Given the description of an element on the screen output the (x, y) to click on. 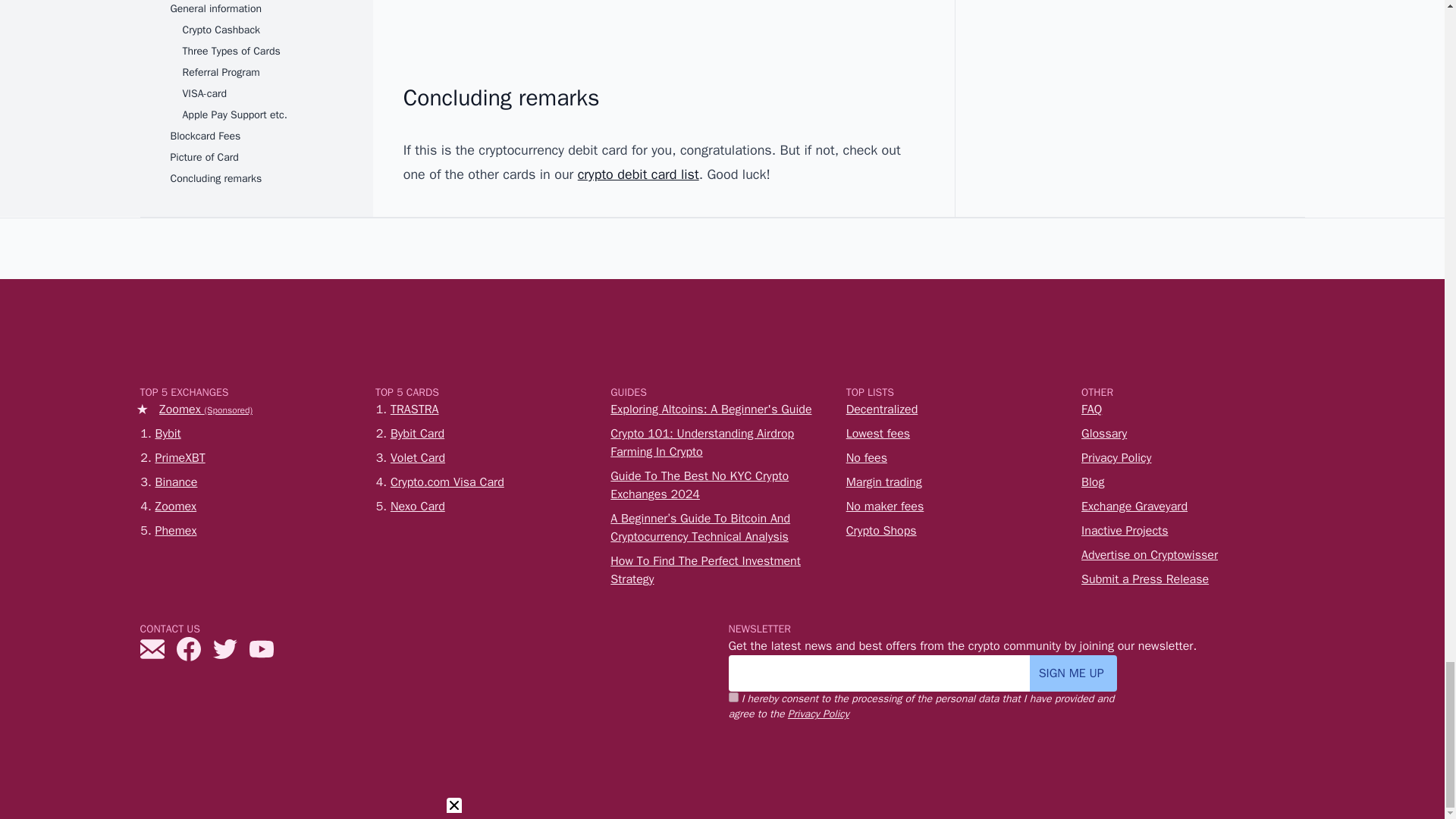
0 (733, 696)
